Given the description of an element on the screen output the (x, y) to click on. 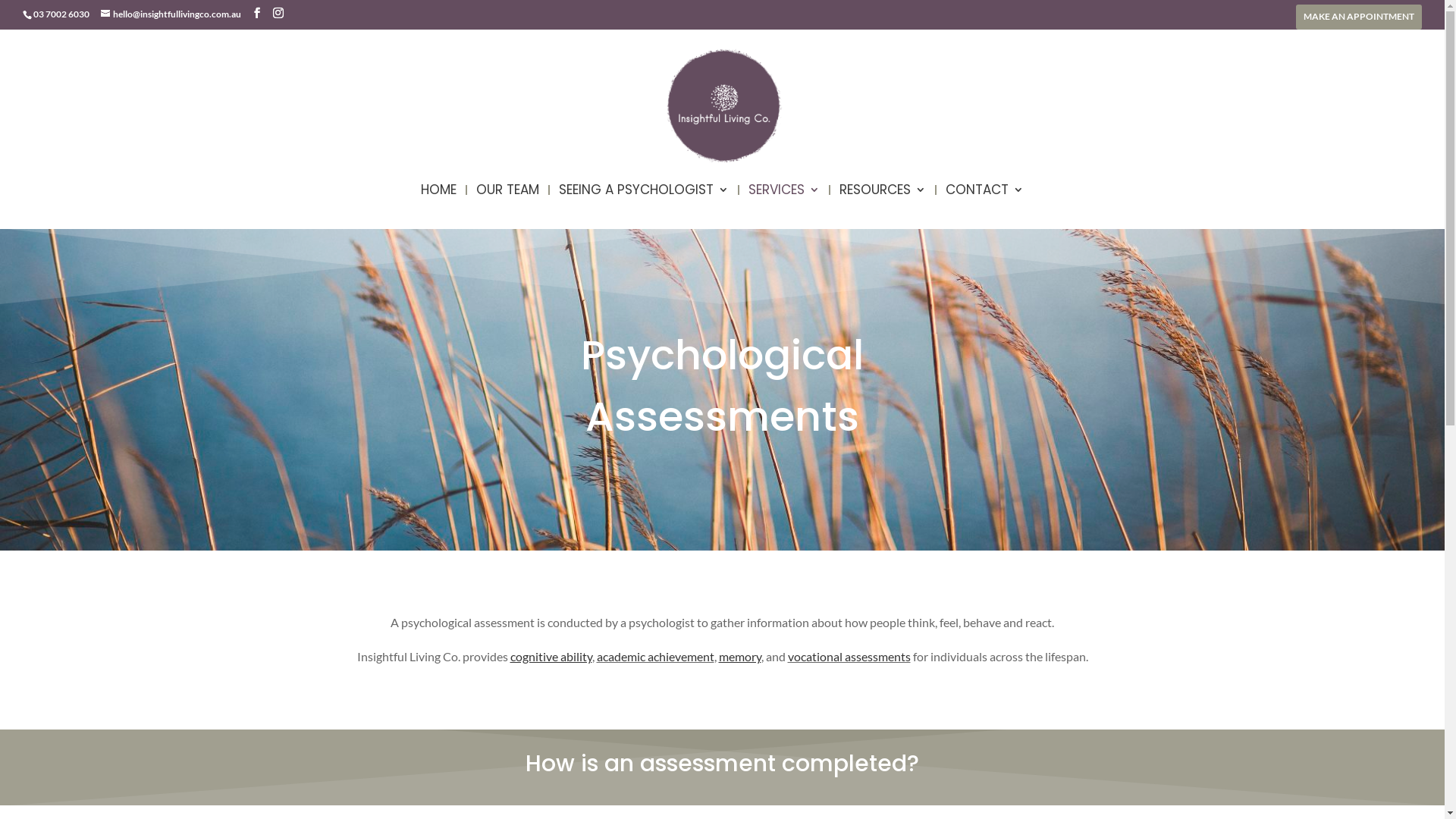
memory Element type: text (739, 656)
CONTACT Element type: text (984, 206)
vocational assessments Element type: text (848, 656)
cognitive ability Element type: text (550, 656)
MAKE AN APPOINTMENT Element type: text (1358, 20)
SERVICES Element type: text (783, 206)
hello@insightfullivingco.com.au Element type: text (170, 13)
OUR TEAM Element type: text (507, 206)
SEEING A PSYCHOLOGIST Element type: text (643, 206)
RESOURCES Element type: text (882, 206)
academic achievement Element type: text (654, 656)
HOME Element type: text (438, 206)
